Given the description of an element on the screen output the (x, y) to click on. 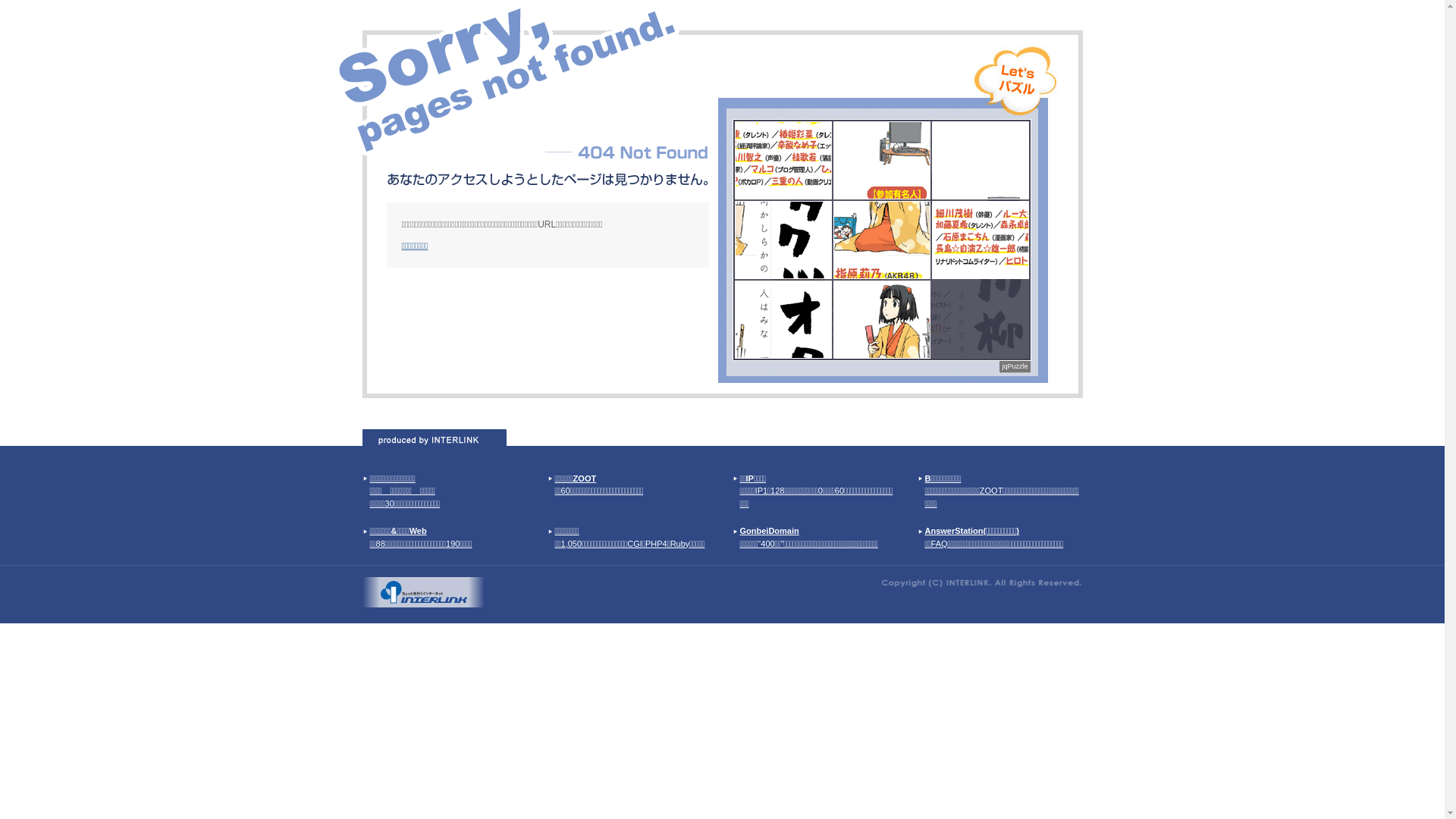
jqPuzzle Element type: text (1014, 366)
